Given the description of an element on the screen output the (x, y) to click on. 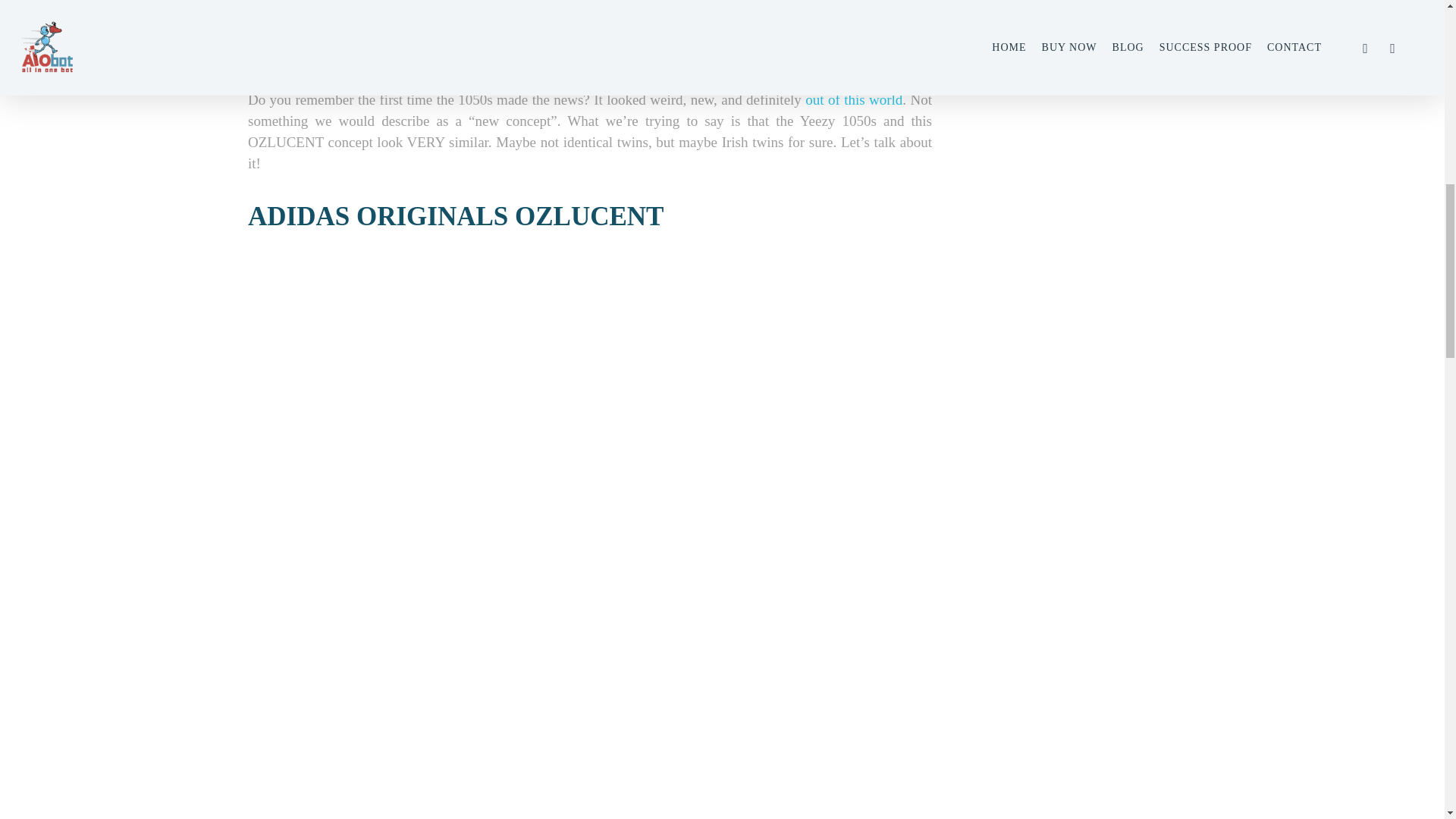
out of this world (853, 99)
sneaker industry (883, 15)
CONCEPTKICKS (368, 1)
Yeezy 1050 boots (876, 78)
